Given the description of an element on the screen output the (x, y) to click on. 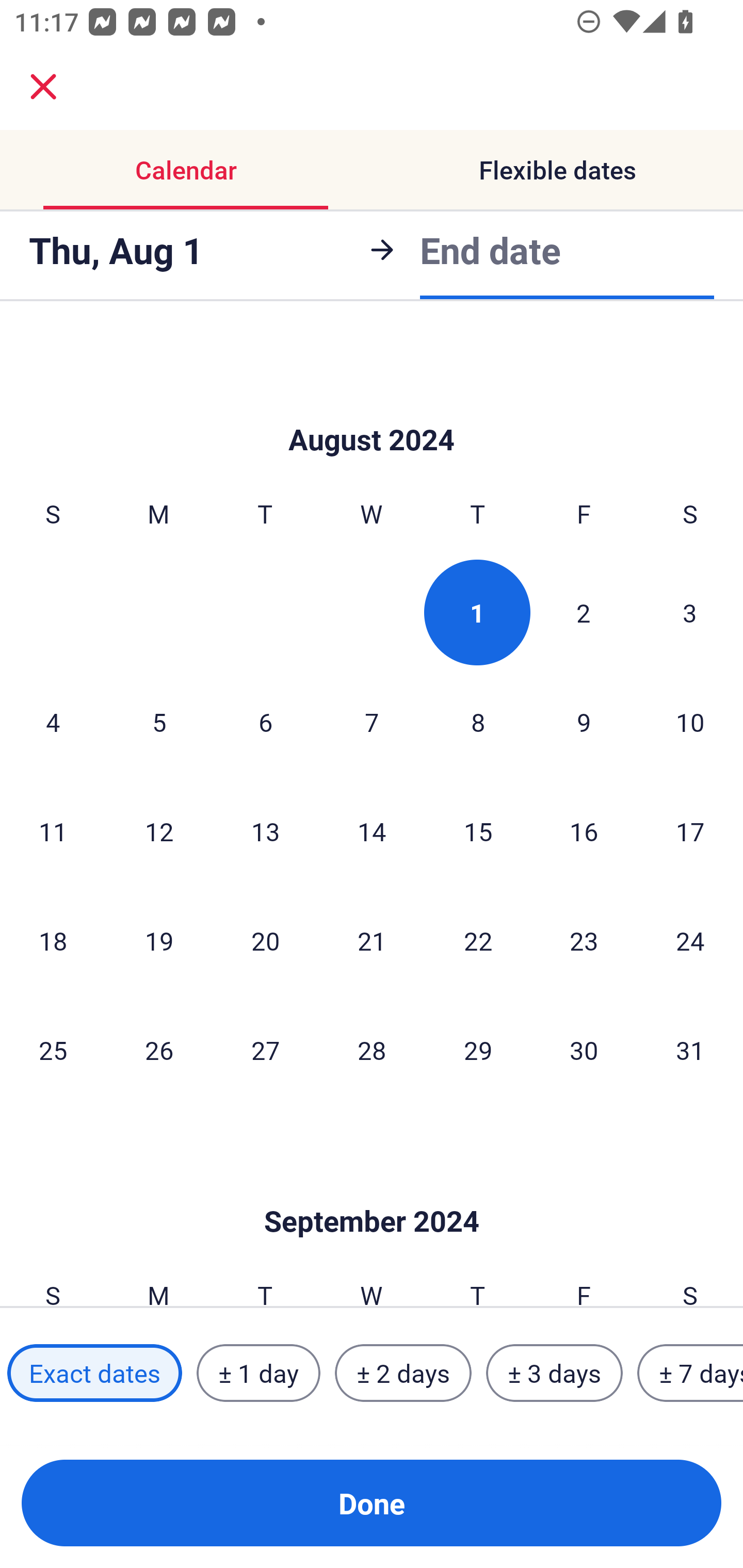
close. (43, 86)
Flexible dates (557, 170)
End date (489, 249)
Skip to Done (371, 408)
2 Friday, August 2, 2024 (583, 611)
3 Saturday, August 3, 2024 (689, 611)
4 Sunday, August 4, 2024 (53, 721)
5 Monday, August 5, 2024 (159, 721)
6 Tuesday, August 6, 2024 (265, 721)
7 Wednesday, August 7, 2024 (371, 721)
8 Thursday, August 8, 2024 (477, 721)
9 Friday, August 9, 2024 (584, 721)
10 Saturday, August 10, 2024 (690, 721)
11 Sunday, August 11, 2024 (53, 830)
12 Monday, August 12, 2024 (159, 830)
13 Tuesday, August 13, 2024 (265, 830)
14 Wednesday, August 14, 2024 (371, 830)
15 Thursday, August 15, 2024 (477, 830)
16 Friday, August 16, 2024 (584, 830)
17 Saturday, August 17, 2024 (690, 830)
